Given the description of an element on the screen output the (x, y) to click on. 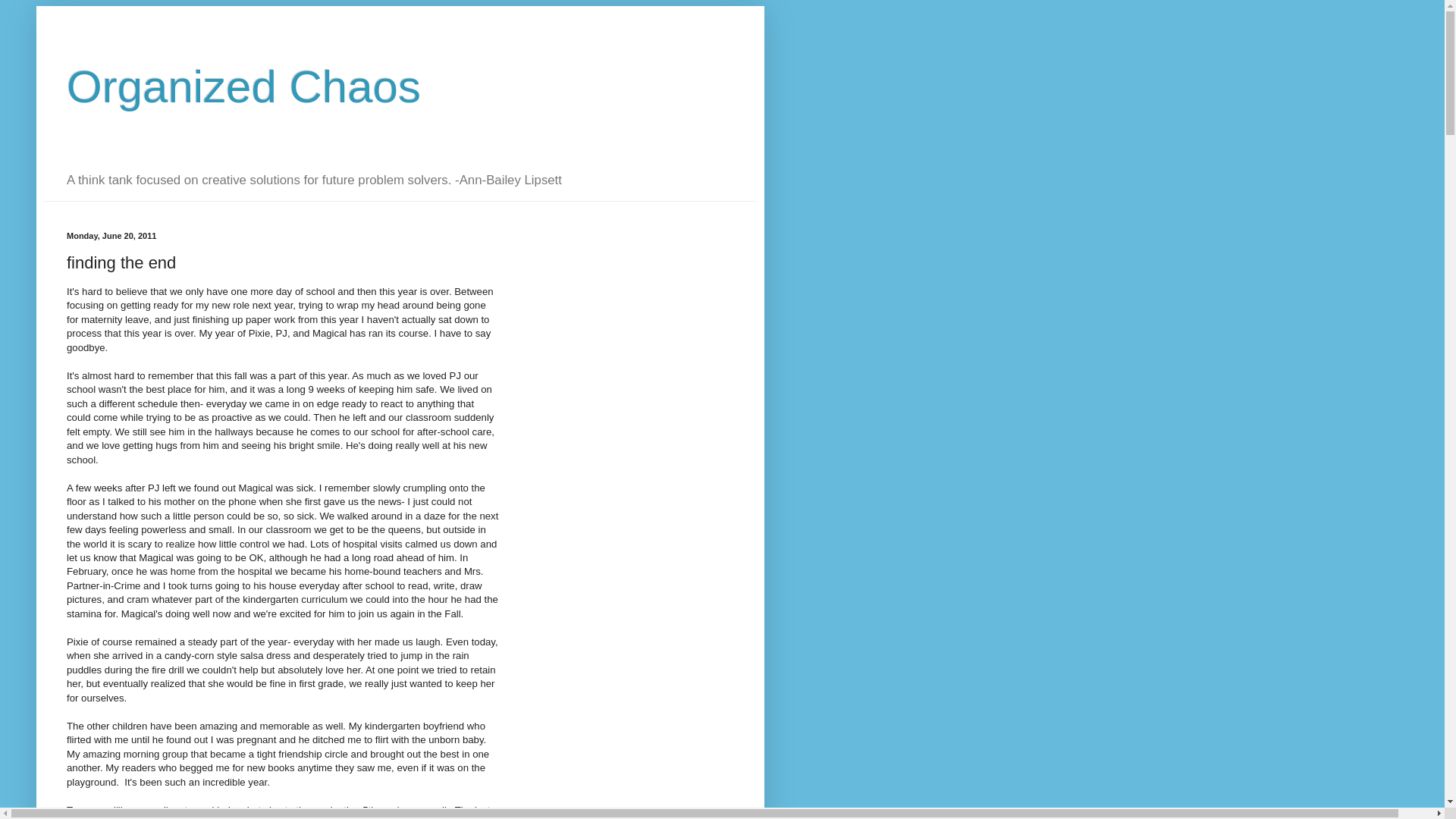
Organized Chaos (243, 86)
